Given the description of an element on the screen output the (x, y) to click on. 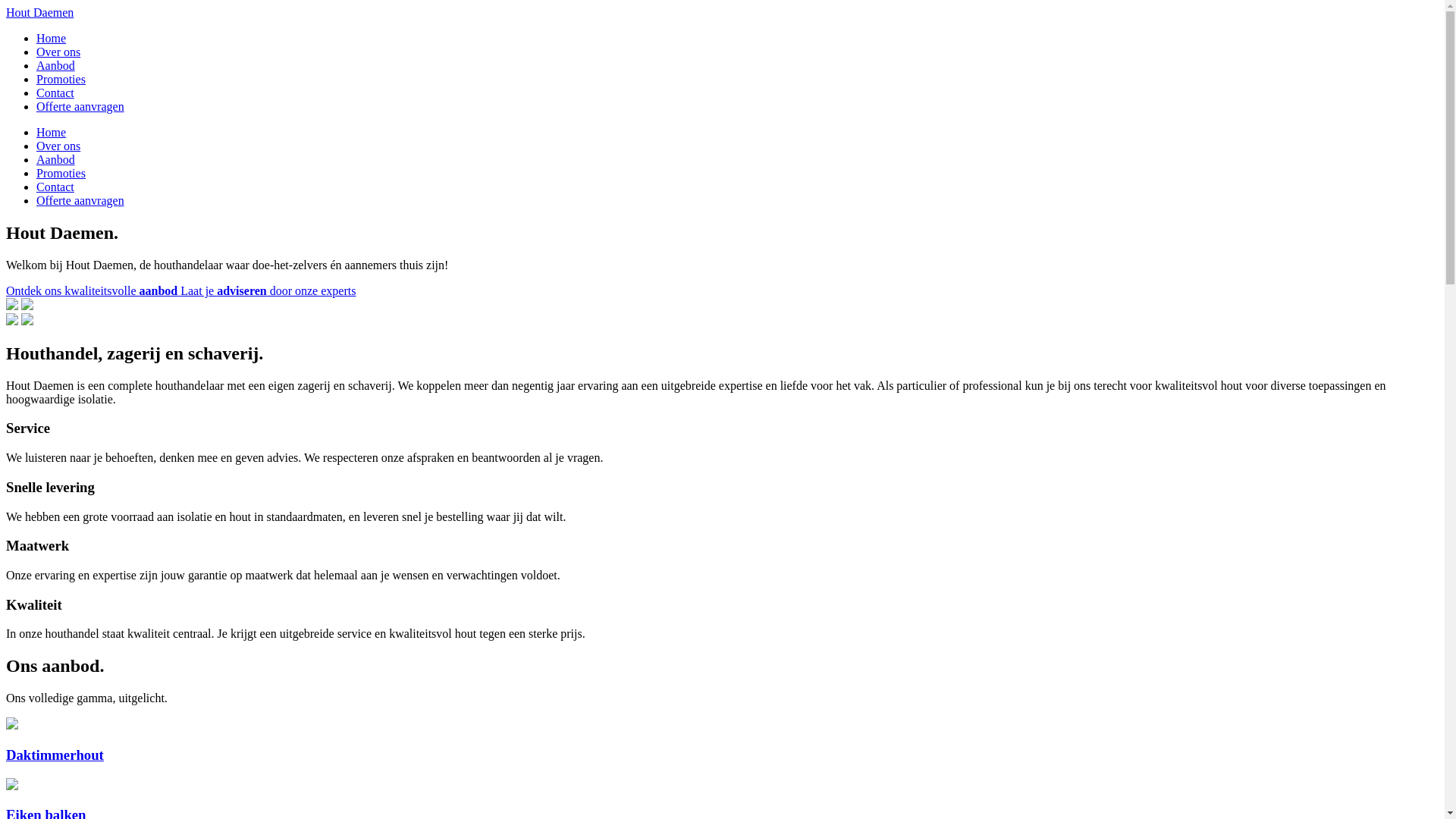
Promoties Element type: text (60, 172)
Laat je adviseren door onze experts Element type: text (267, 290)
Aanbod Element type: text (55, 65)
Over ons Element type: text (58, 51)
Daktimmerhout Element type: text (722, 740)
Ontdek ons kwaliteitsvolle aanbod Element type: text (93, 290)
Aanbod Element type: text (55, 159)
Offerte aanvragen Element type: text (80, 106)
Contact Element type: text (55, 186)
Home Element type: text (50, 37)
Offerte aanvragen Element type: text (80, 200)
Promoties Element type: text (60, 78)
Over ons Element type: text (58, 145)
Hout Daemen Element type: text (39, 12)
Home Element type: text (50, 131)
Contact Element type: text (55, 92)
